Given the description of an element on the screen output the (x, y) to click on. 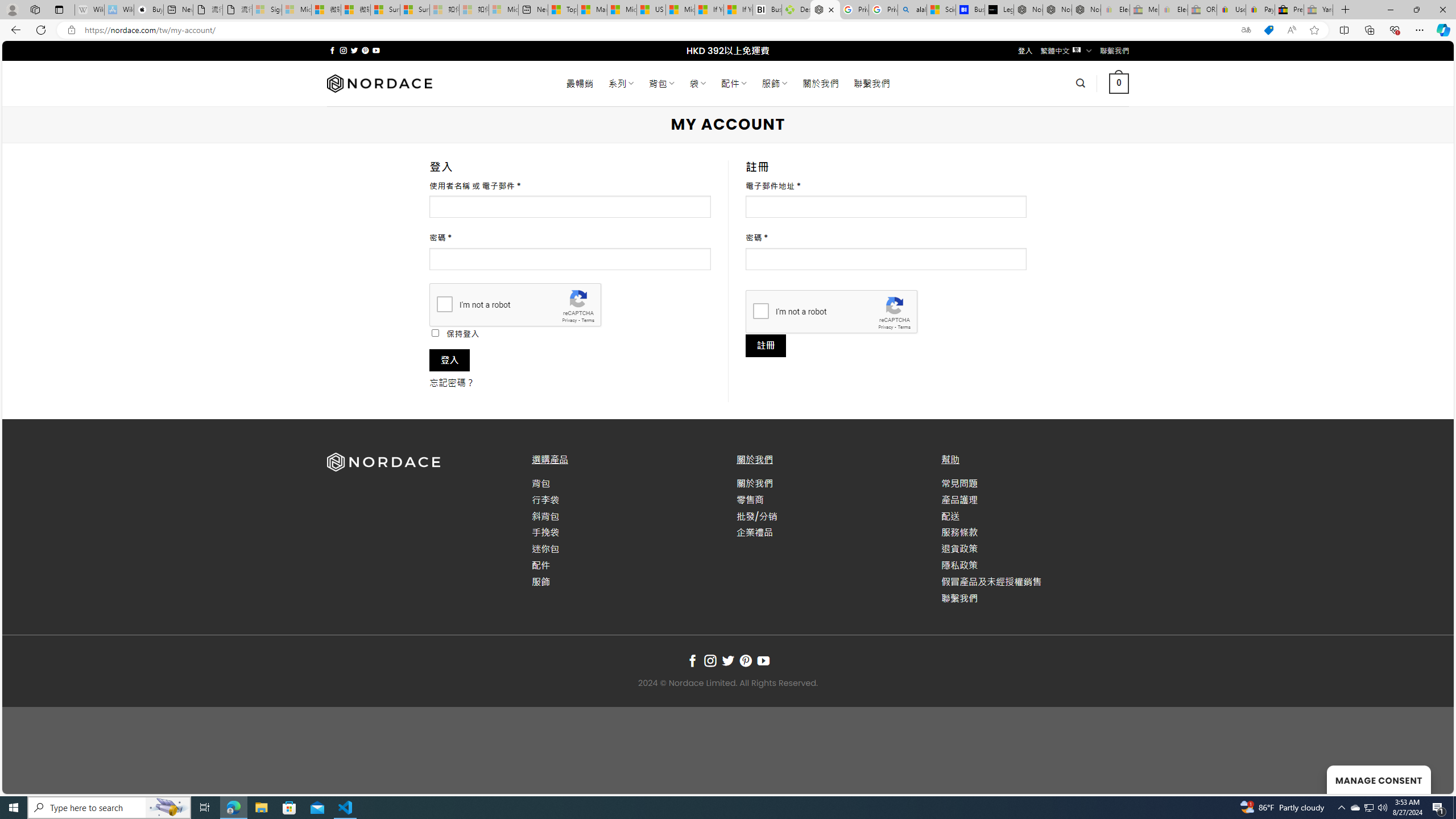
Nordace - My Account (825, 9)
Microsoft account | Account Checkup - Sleeping (502, 9)
Descarga Driver Updater (796, 9)
User Privacy Notice | eBay (1230, 9)
Follow on YouTube (763, 660)
